Given the description of an element on the screen output the (x, y) to click on. 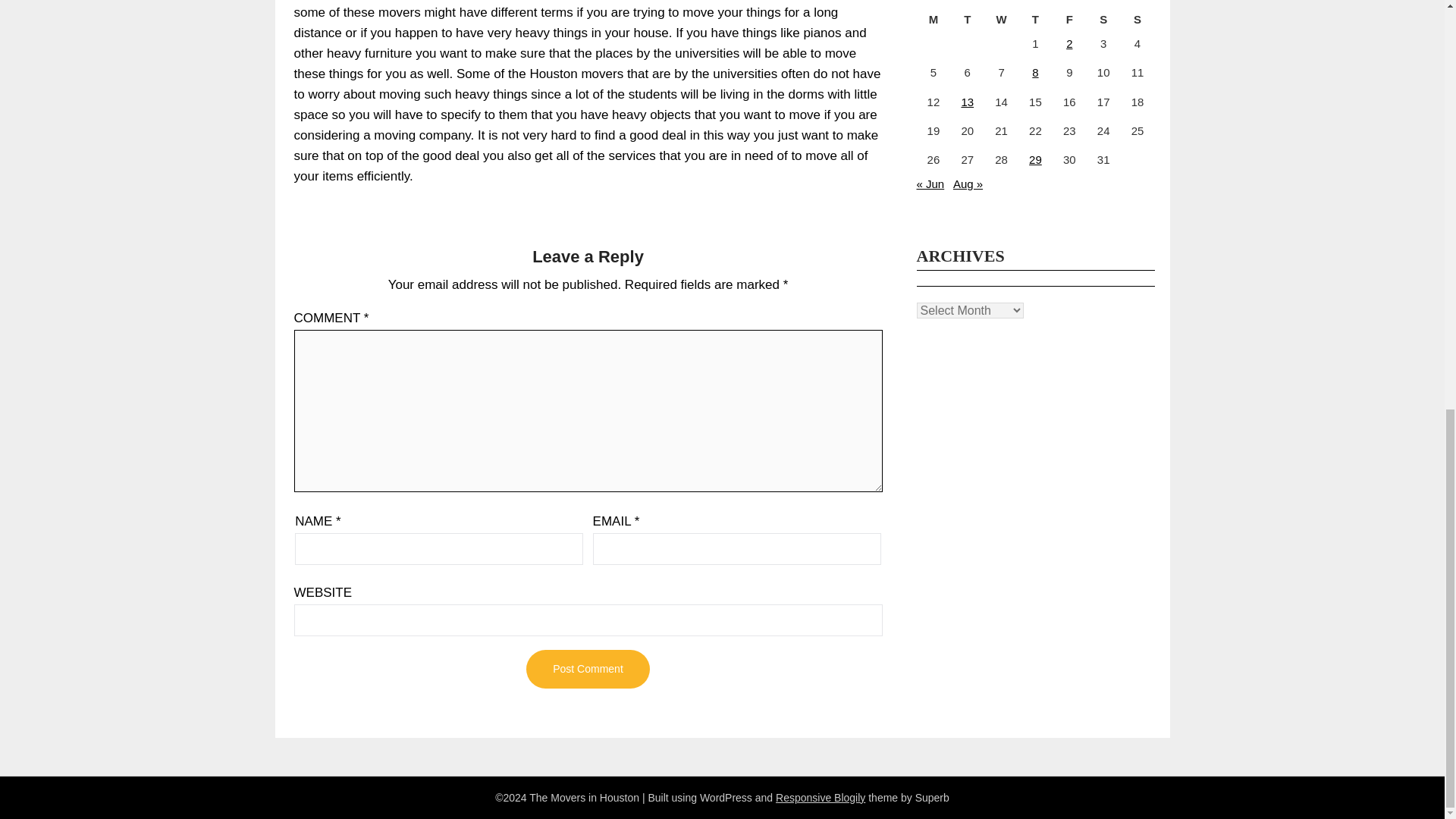
8 (1035, 72)
Thursday (1034, 19)
Responsive Blogily (820, 797)
Sunday (1137, 19)
Wednesday (1000, 19)
29 (1035, 159)
2 (1068, 42)
Friday (1069, 19)
Saturday (1103, 19)
13 (967, 101)
Post Comment (587, 669)
Monday (932, 19)
Tuesday (967, 19)
Post Comment (587, 669)
